Given the description of an element on the screen output the (x, y) to click on. 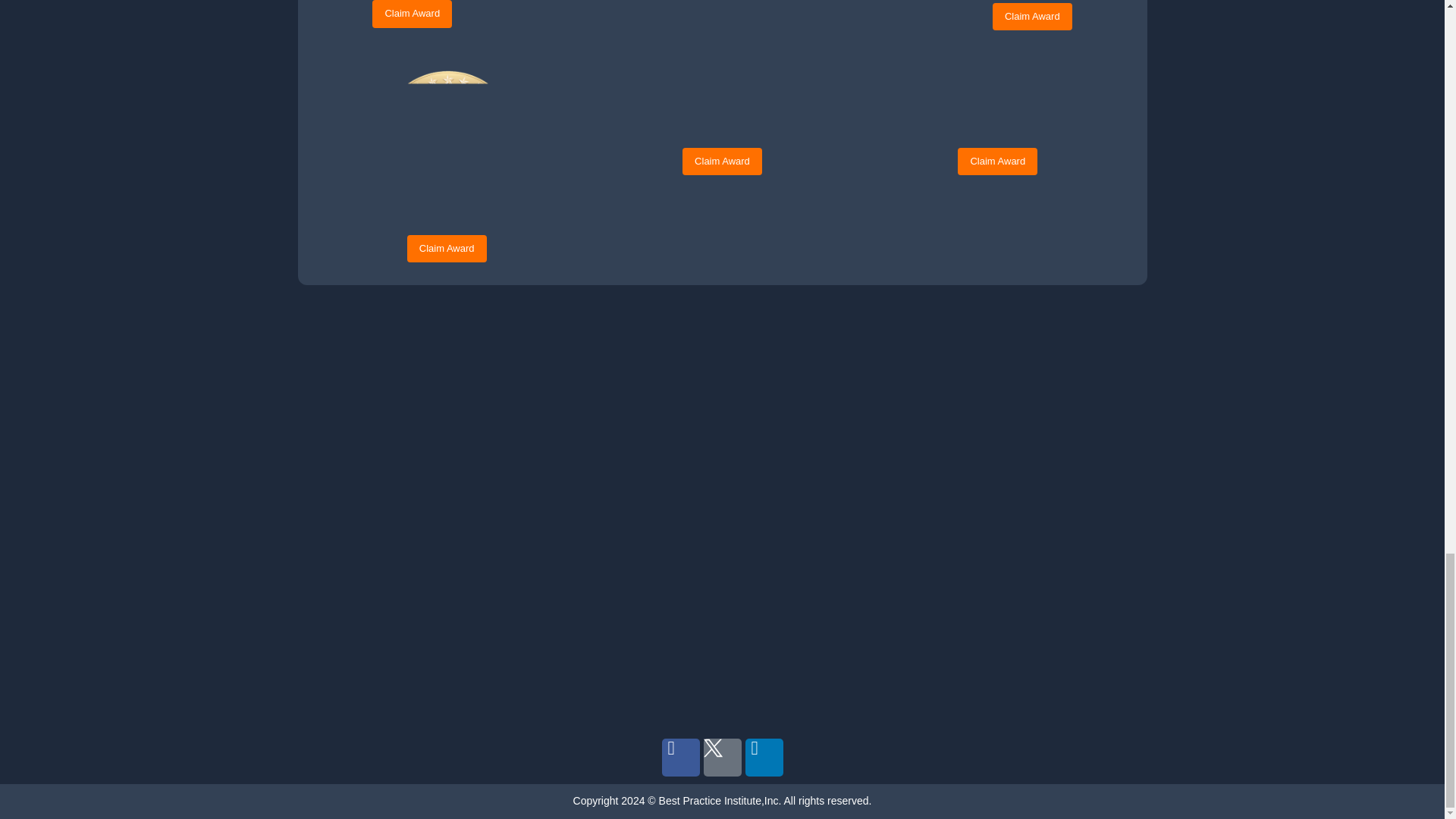
Claim Award (411, 13)
Claim Award (1031, 16)
